Given the description of an element on the screen output the (x, y) to click on. 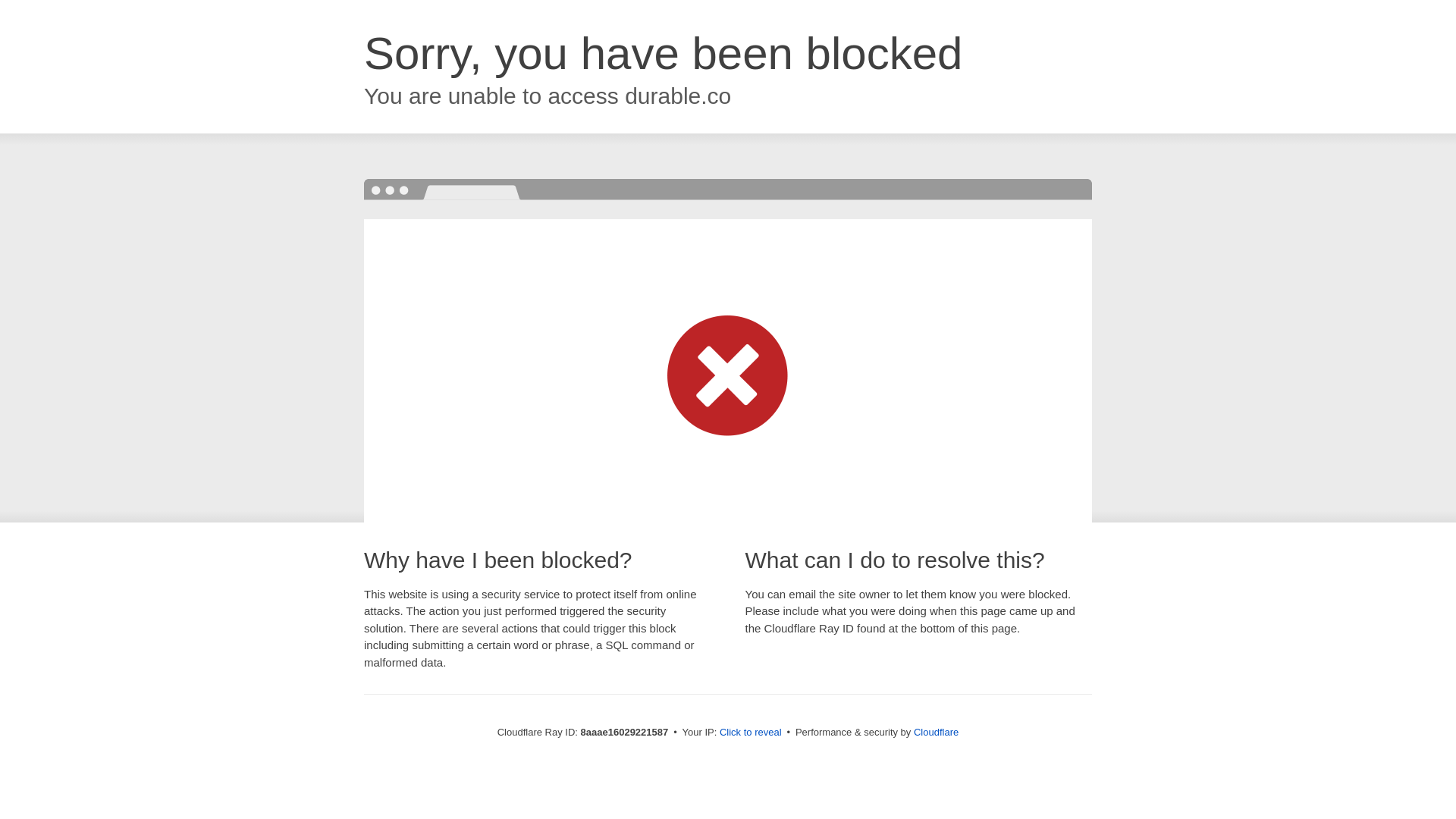
Cloudflare (936, 731)
Click to reveal (750, 732)
